Given the description of an element on the screen output the (x, y) to click on. 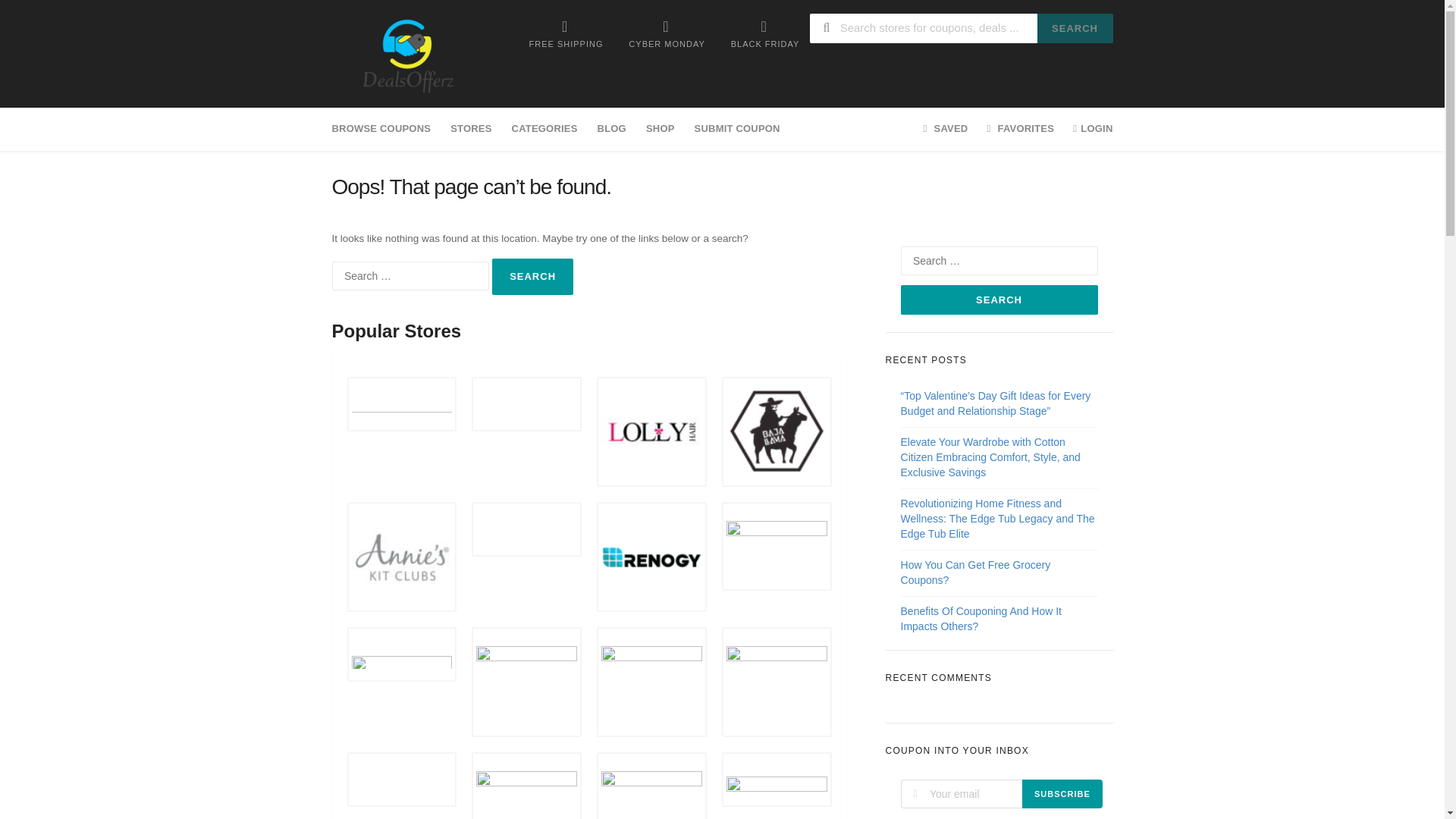
STORES (470, 128)
LOGIN (1087, 128)
FREE SHIPPING (566, 33)
CATEGORIES (545, 128)
BLACK FRIDAY (764, 33)
SHOP (660, 128)
Search (532, 276)
Search (532, 276)
CYBER MONDAY (666, 33)
Deals Offerz (407, 55)
